Given the description of an element on the screen output the (x, y) to click on. 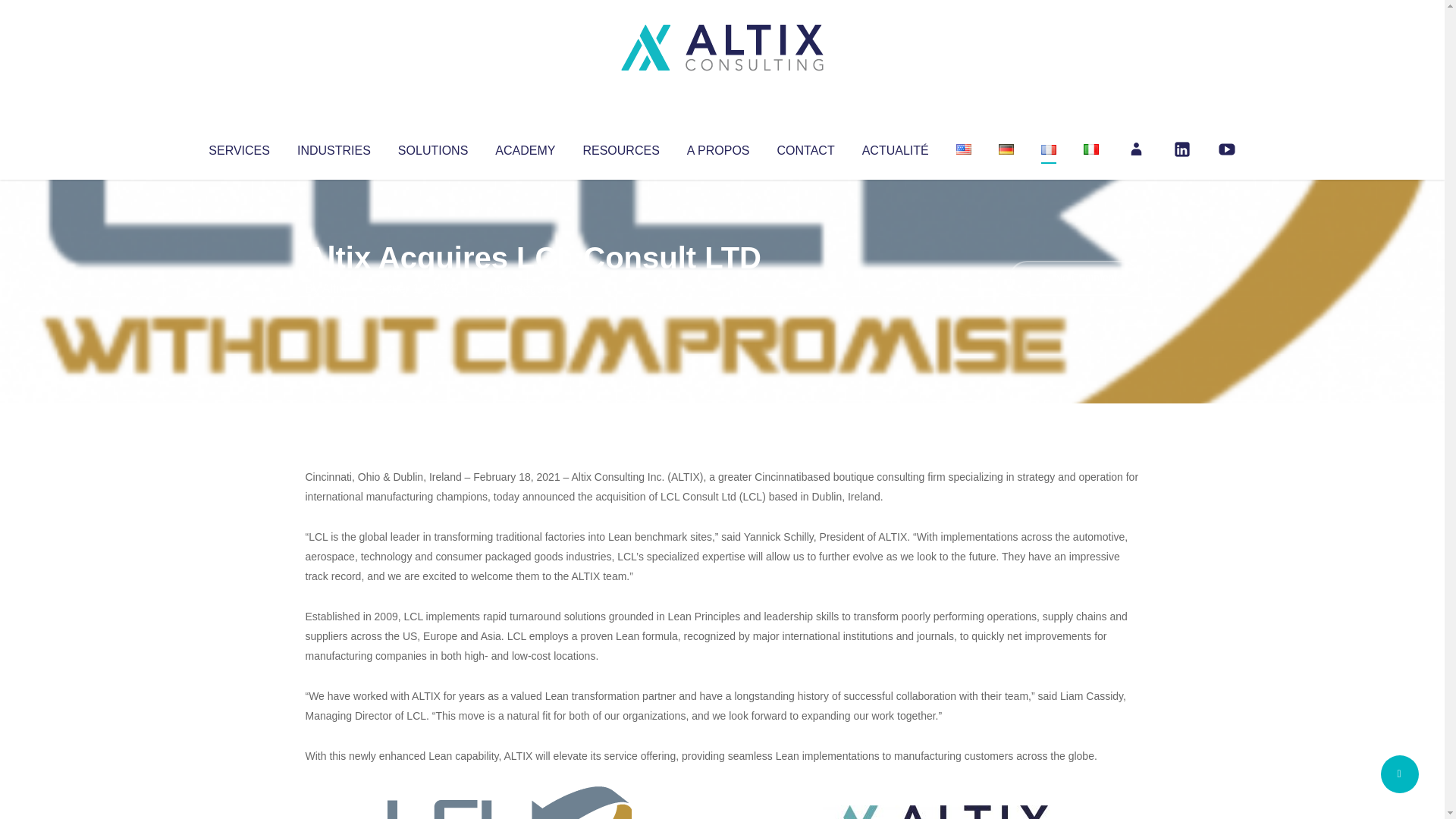
INDUSTRIES (334, 146)
No Comments (1073, 278)
Articles par Altix (333, 287)
A PROPOS (718, 146)
ACADEMY (524, 146)
RESOURCES (620, 146)
SERVICES (238, 146)
SOLUTIONS (432, 146)
Altix (333, 287)
Uncategorized (530, 287)
